Given the description of an element on the screen output the (x, y) to click on. 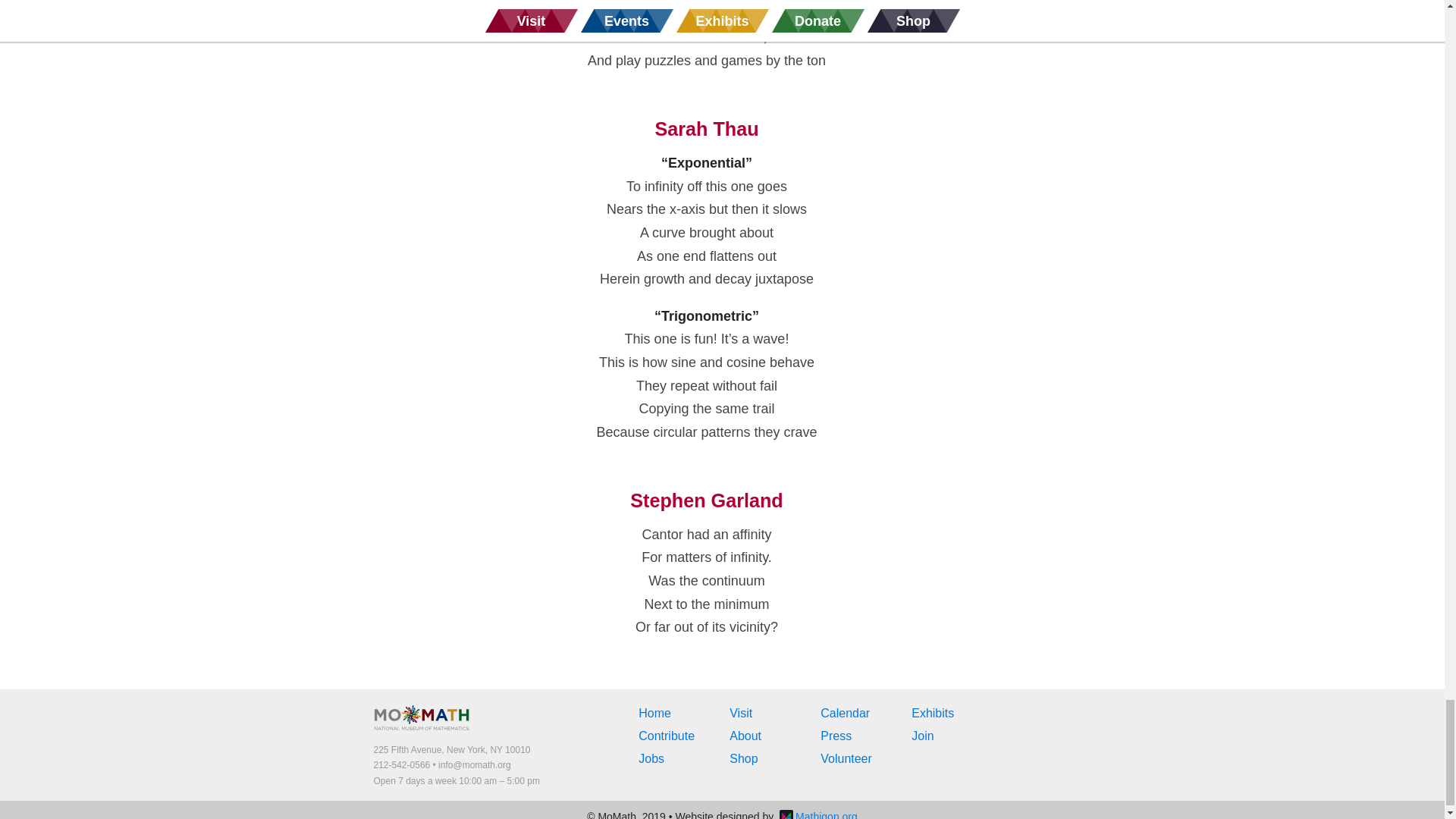
Home (655, 712)
Jobs (651, 758)
Join (922, 735)
Calendar (845, 712)
Press (836, 735)
Exhibits (932, 712)
Shop (743, 758)
Volunteer (846, 758)
Visit (740, 712)
Contribute (666, 735)
About (745, 735)
